Given the description of an element on the screen output the (x, y) to click on. 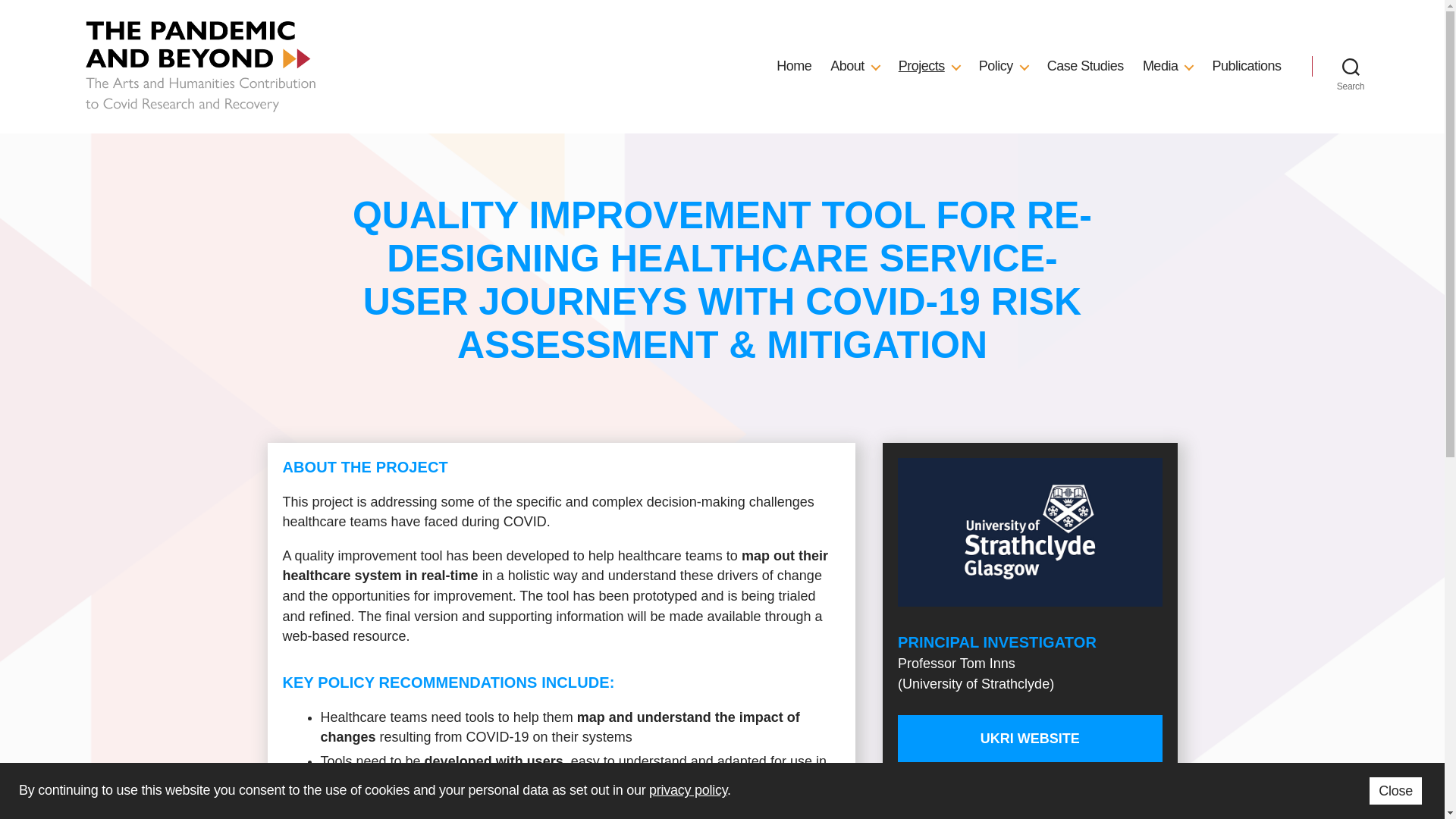
Search (1350, 66)
Media (1167, 66)
Projects (928, 66)
Home (793, 66)
Publications (1246, 66)
About (854, 66)
Policy (1002, 66)
Case Studies (1085, 66)
